Given the description of an element on the screen output the (x, y) to click on. 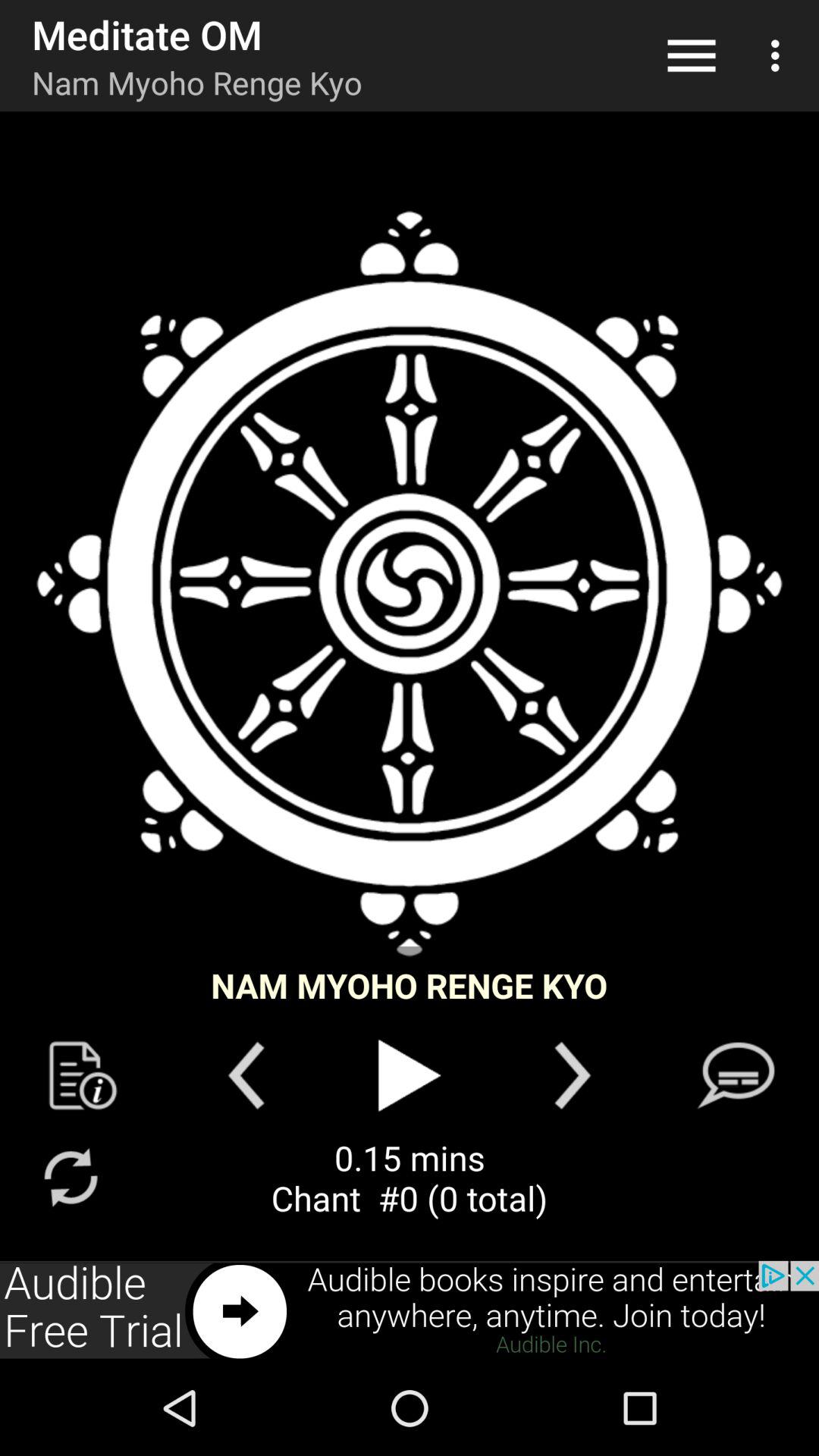
start meditation (409, 1075)
